Given the description of an element on the screen output the (x, y) to click on. 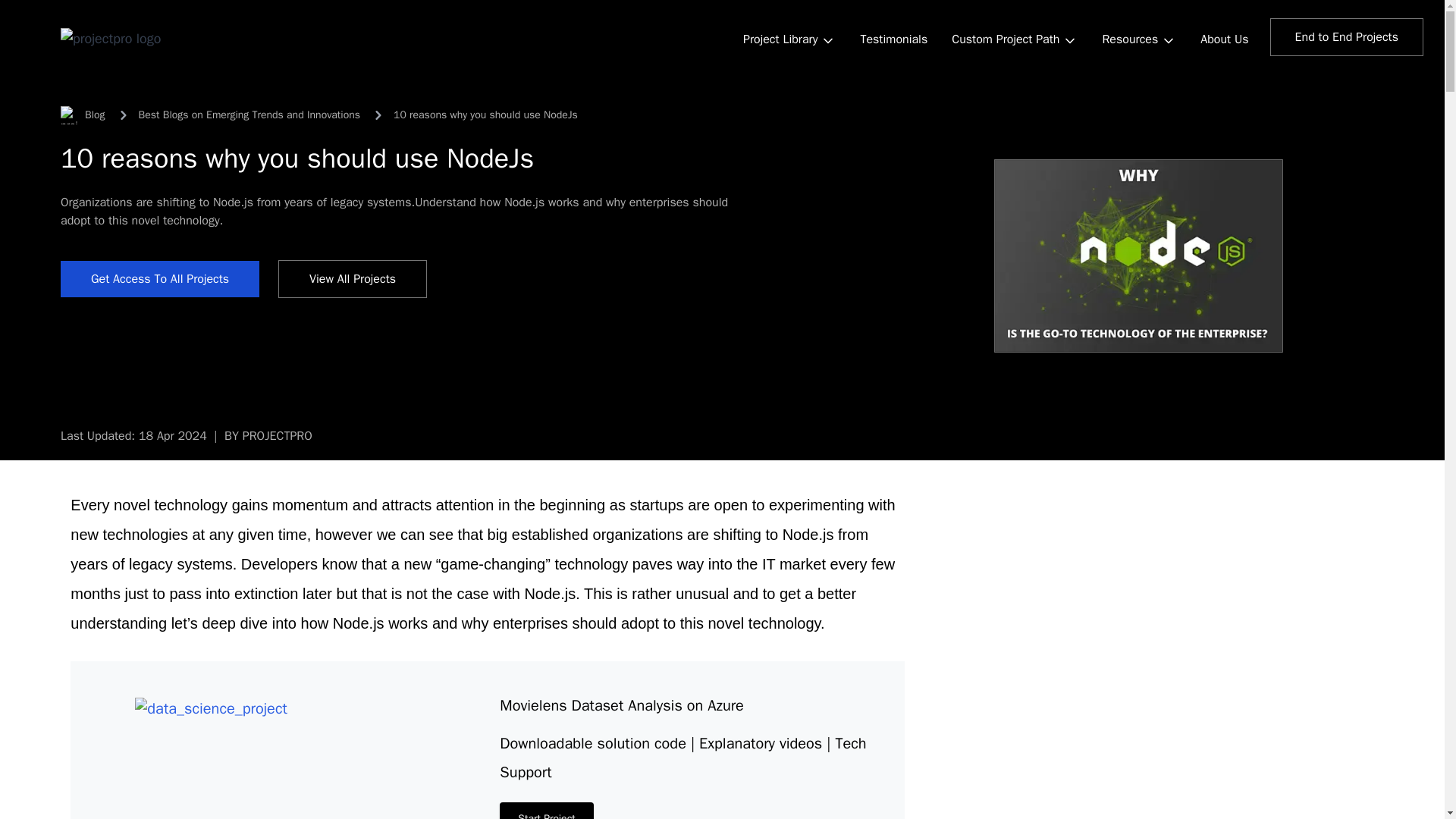
View all  Projects (352, 279)
Get access to all  Projects (160, 279)
Blog (82, 115)
Best Blogs on Emerging Trends and Innovations (248, 114)
Start Project (545, 810)
About Us (1224, 39)
View All Projects (352, 279)
Get Access To All Projects (160, 279)
Testimonials (893, 39)
projectpro logo (110, 37)
Blog (82, 115)
About us (1224, 39)
Resources (1138, 40)
Best Blogs on Emerging Trends and Innovations (248, 114)
End to End Projects (1346, 37)
